Given the description of an element on the screen output the (x, y) to click on. 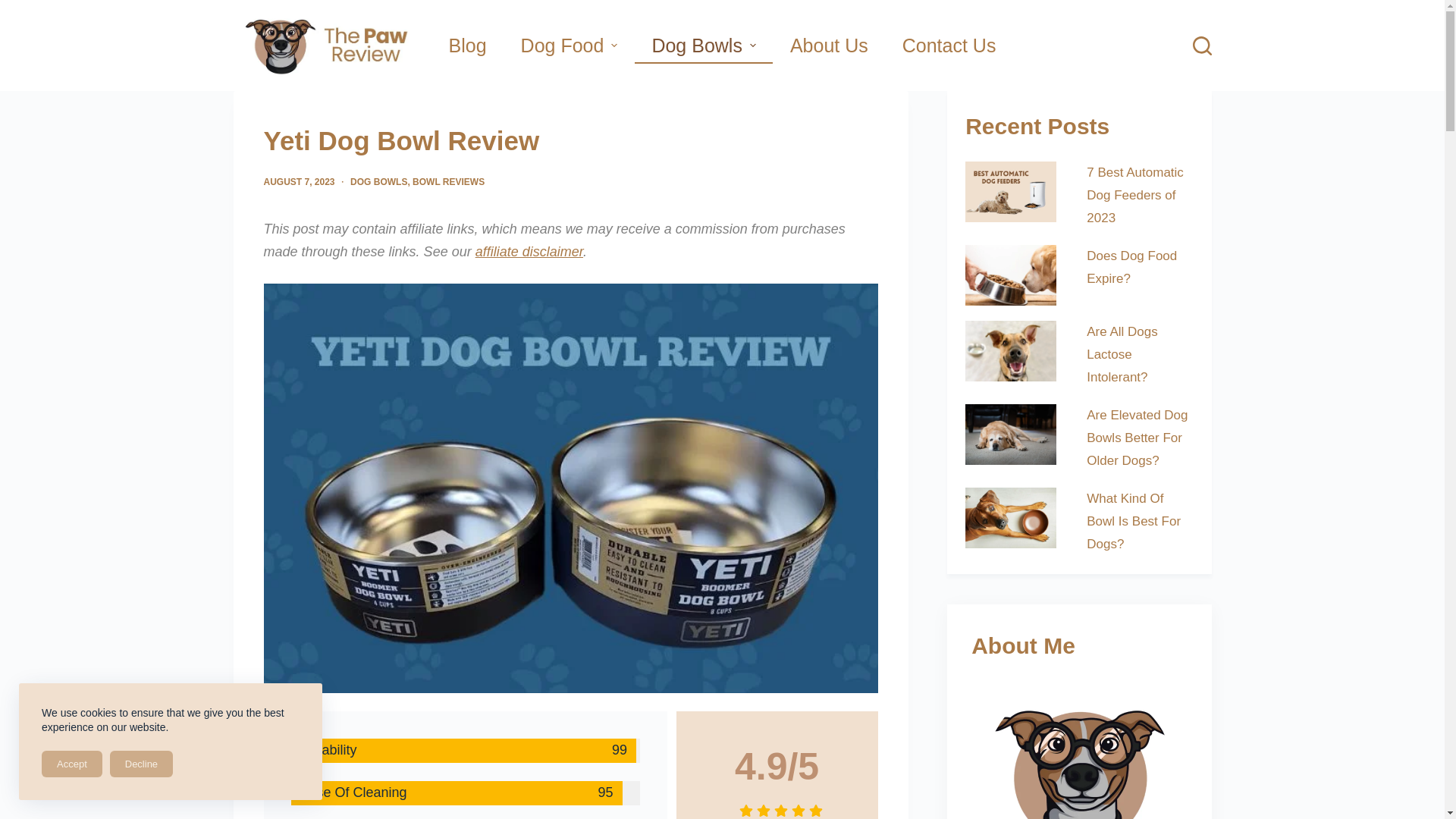
Accept (71, 764)
Decline (141, 764)
Skip to content (15, 7)
Blog (466, 45)
Yeti Dog Bowl Review (570, 141)
Dog Food (568, 45)
Dog Bowls (703, 45)
